Given the description of an element on the screen output the (x, y) to click on. 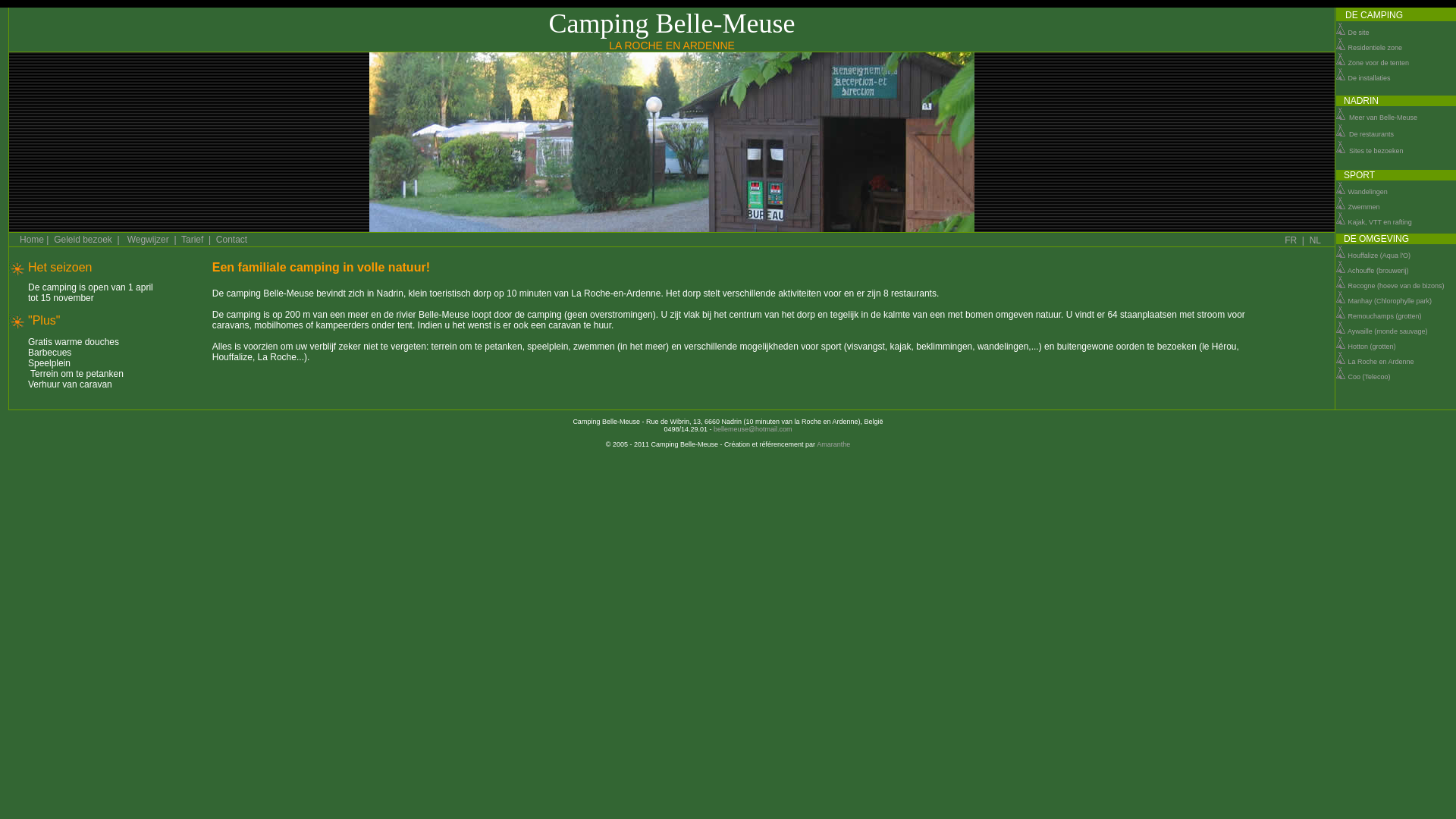
La Roche en Ardenne Element type: text (1381, 361)
Manhay (Chlorophylle park) Element type: text (1390, 300)
Remouchamps (grotten) Element type: text (1384, 316)
bellemeuse@hotmail.com Element type: text (752, 429)
Recogne (hoeve van de bizons) Element type: text (1396, 285)
Coo (Telecoo) Element type: text (1369, 376)
Residentiele zone Element type: text (1368, 47)
Kajak, VTT en rafting Element type: text (1373, 221)
De restaurants Element type: text (1363, 131)
NL Element type: text (1315, 240)
Home Element type: text (31, 239)
Houffalize (Aqua l'O) Element type: text (1379, 255)
Amaranthe Element type: text (833, 444)
Geleid bezoek Element type: text (82, 239)
FR Element type: text (1290, 240)
Sites te bezoeken Element type: text (1368, 148)
Wegwijzer Element type: text (148, 239)
Hotton (grotten) Element type: text (1372, 346)
Aywaille (monde sauvage) Element type: text (1387, 331)
Contact Element type: text (231, 239)
De site Element type: text (1351, 32)
Zwemmen Element type: text (1357, 206)
De installaties Element type: text (1362, 77)
Achouffe (brouwerij) Element type: text (1377, 270)
Meer van Belle-Meuse Element type: text (1375, 115)
Wandelingen Element type: text (1360, 191)
Tarief Element type: text (192, 239)
Zone voor de tenten Element type: text (1371, 62)
